Given the description of an element on the screen output the (x, y) to click on. 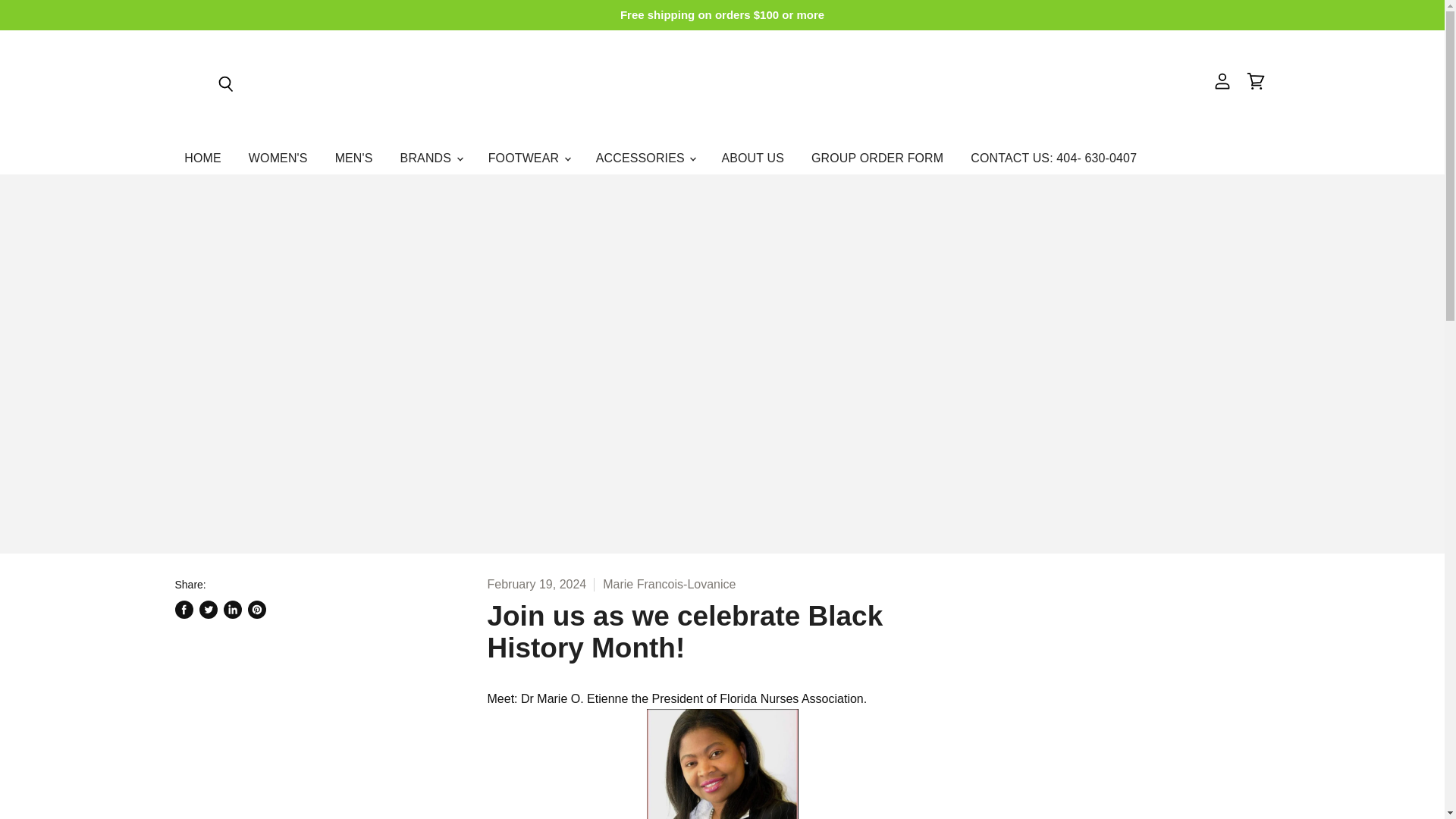
GROUP ORDER FORM (877, 158)
FOOTWEAR (528, 158)
CONTACT US: 404- 630-0407 (1053, 158)
ABOUT US (753, 158)
MEN'S (354, 158)
Search (224, 83)
BRANDS (430, 158)
ACCESSORIES (644, 158)
HOME (202, 158)
WOMEN'S (276, 158)
